Given the description of an element on the screen output the (x, y) to click on. 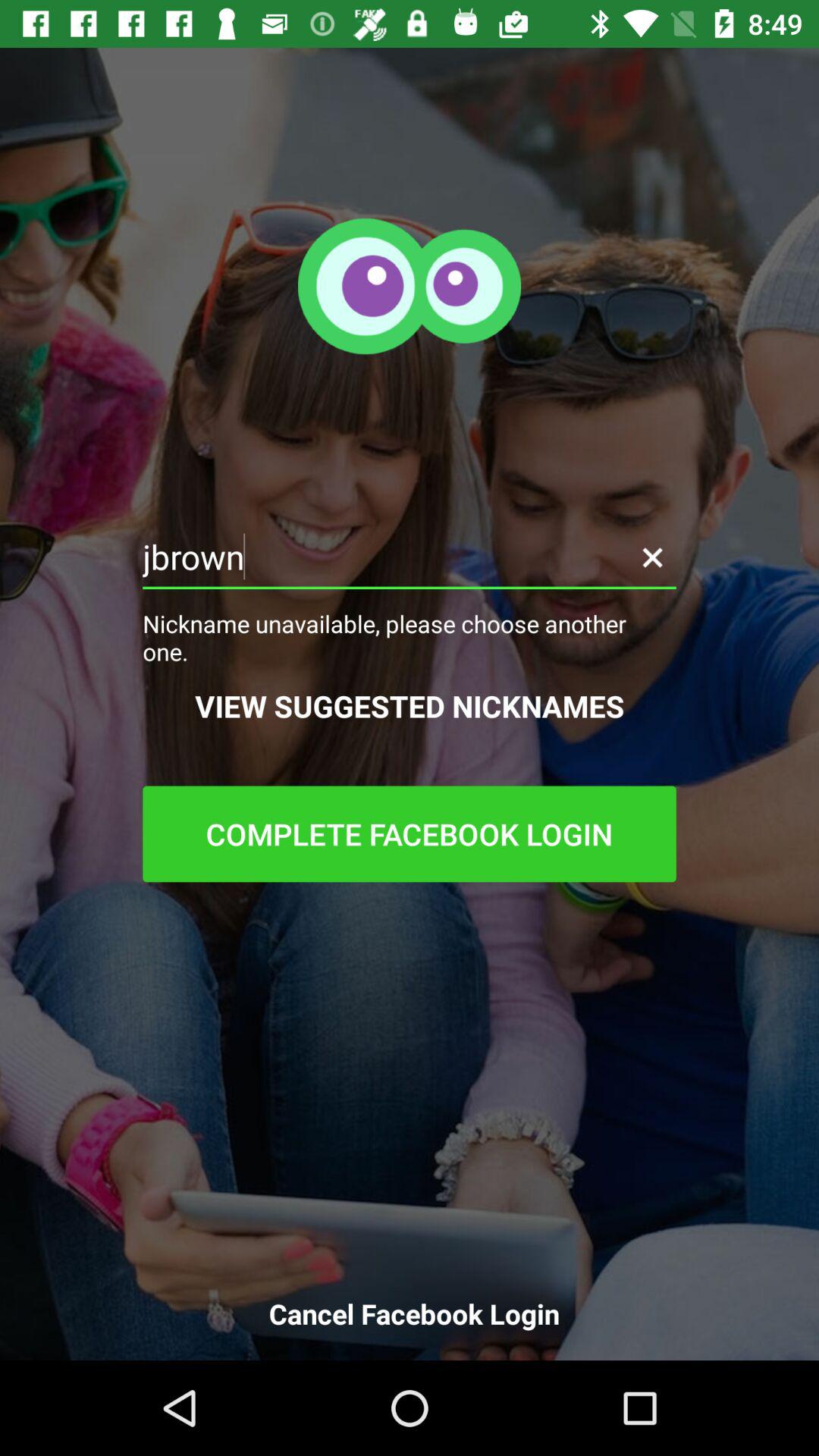
launch the icon above nickname unavailable please (652, 557)
